Given the description of an element on the screen output the (x, y) to click on. 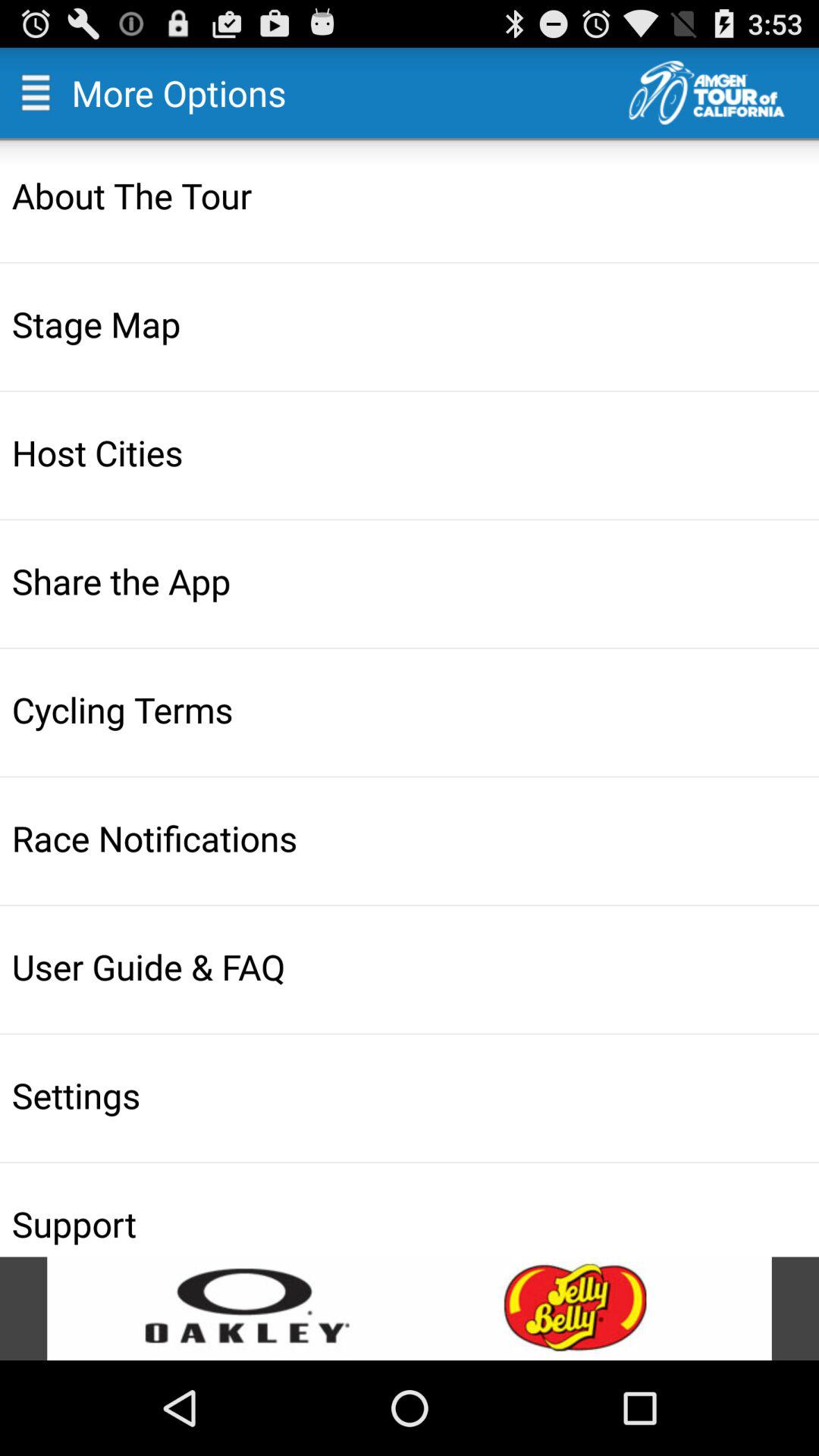
click support icon (411, 1223)
